Given the description of an element on the screen output the (x, y) to click on. 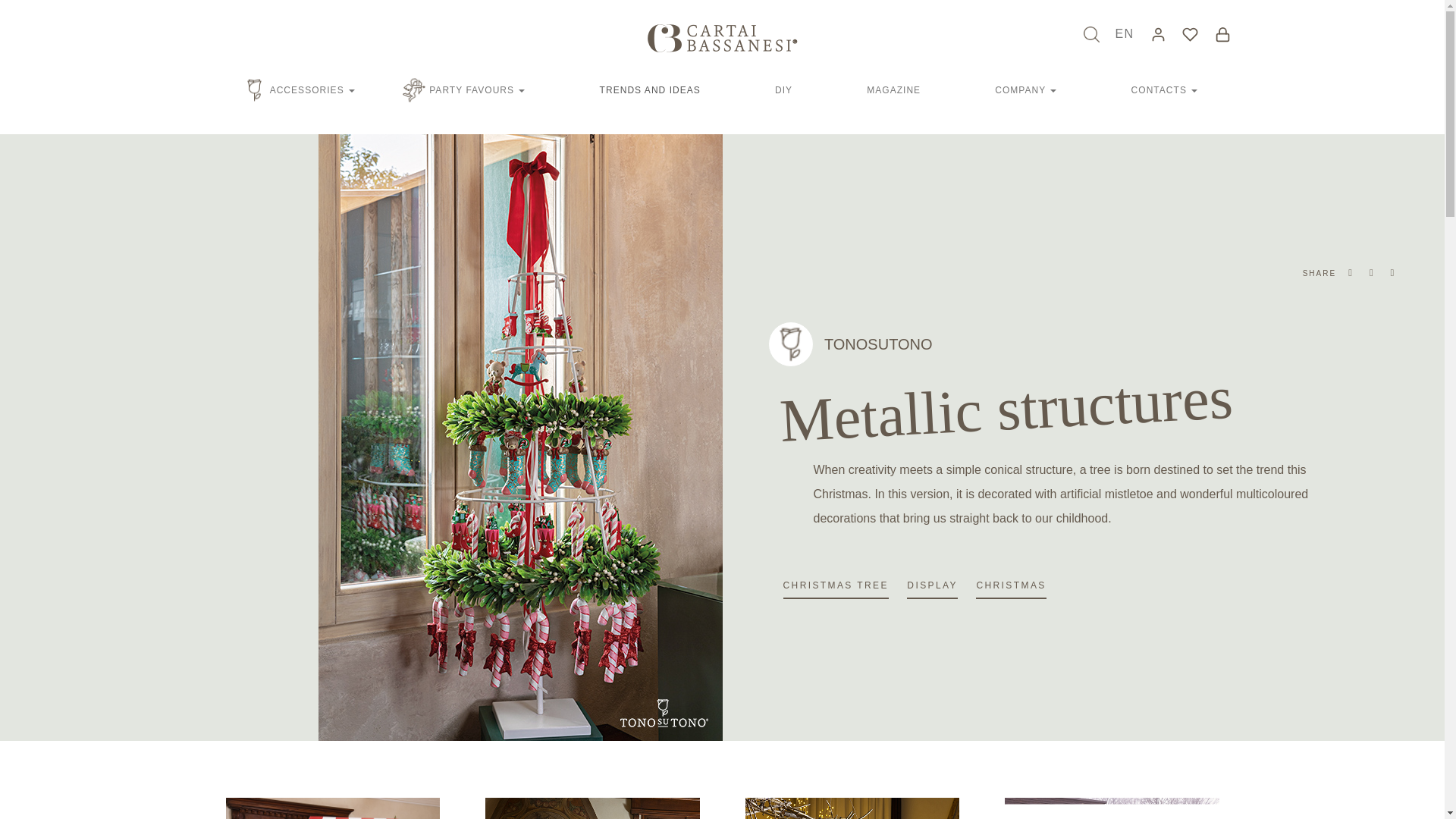
COMPANY (1025, 89)
TRENDS AND IDEAS (649, 89)
PARTY FAVOURS (477, 89)
MAGAZINE (893, 89)
ACCESSORIES (312, 89)
EN (1126, 33)
CONTACTS (1164, 89)
DIY (783, 89)
